Given the description of an element on the screen output the (x, y) to click on. 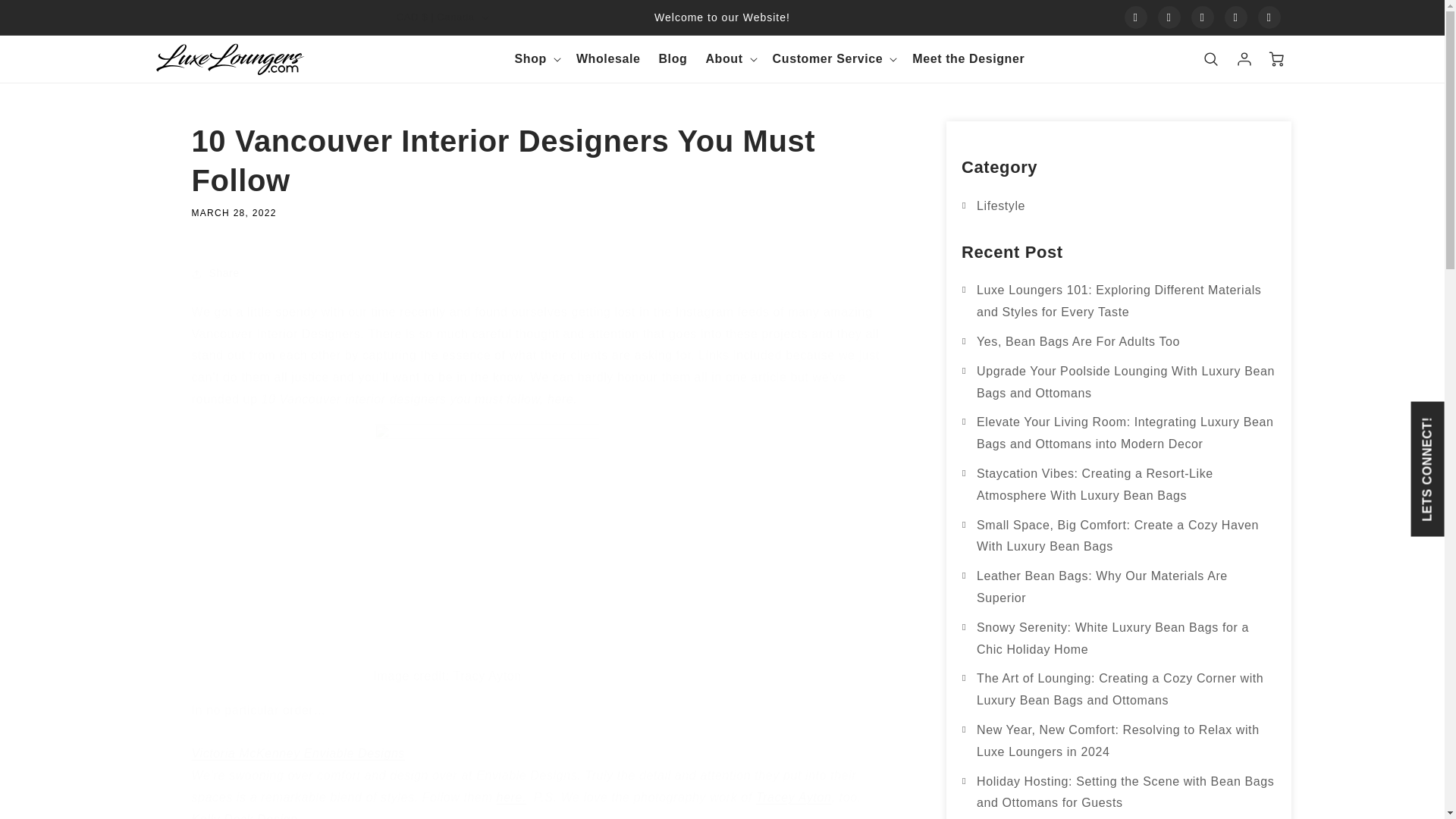
Show articles tagged Lifestyle (1000, 205)
Share (541, 273)
Skip to content (45, 17)
